Given the description of an element on the screen output the (x, y) to click on. 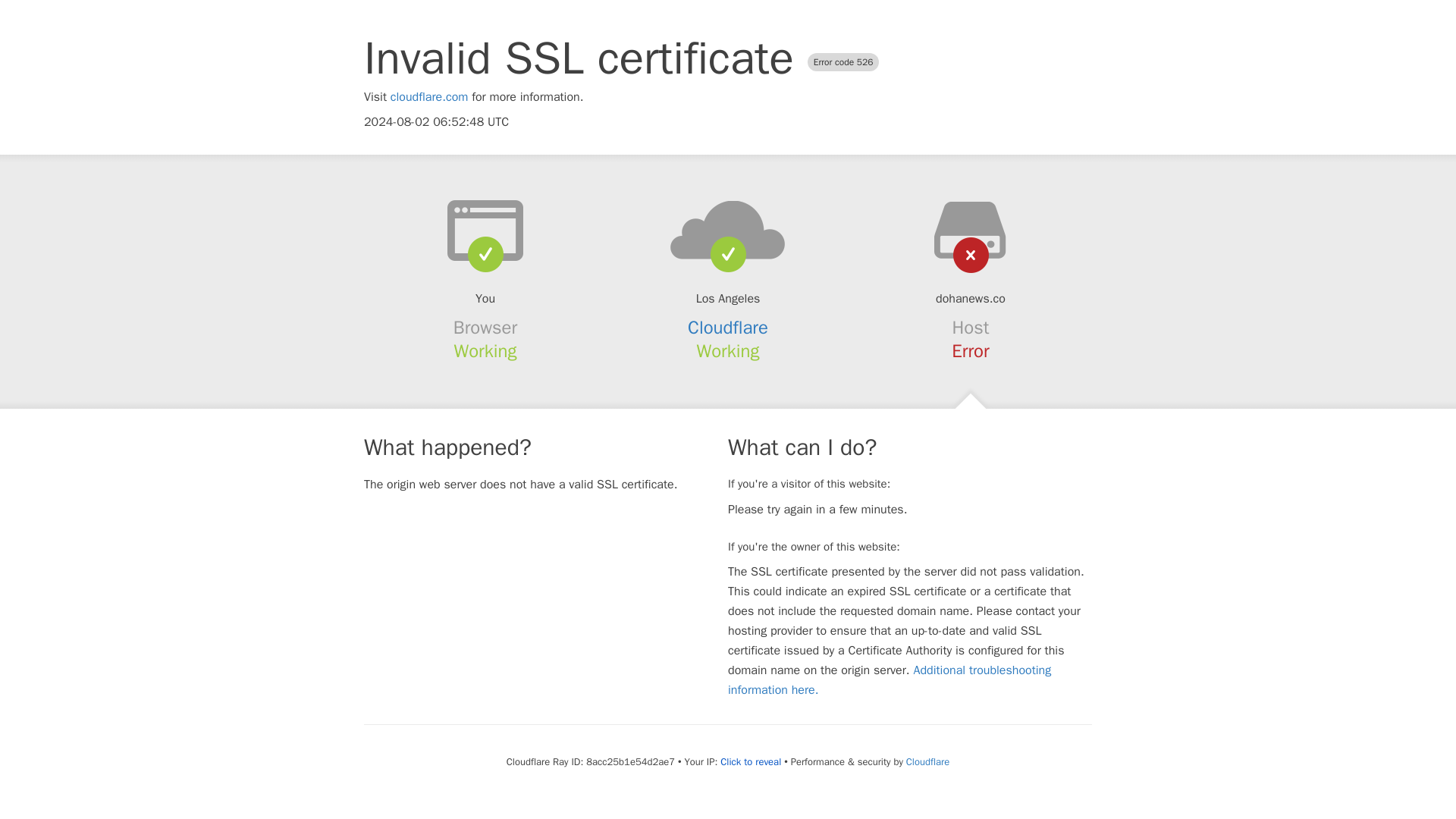
Click to reveal (750, 762)
Cloudflare (927, 761)
Additional troubleshooting information here. (889, 679)
Cloudflare (727, 327)
cloudflare.com (429, 96)
